Given the description of an element on the screen output the (x, y) to click on. 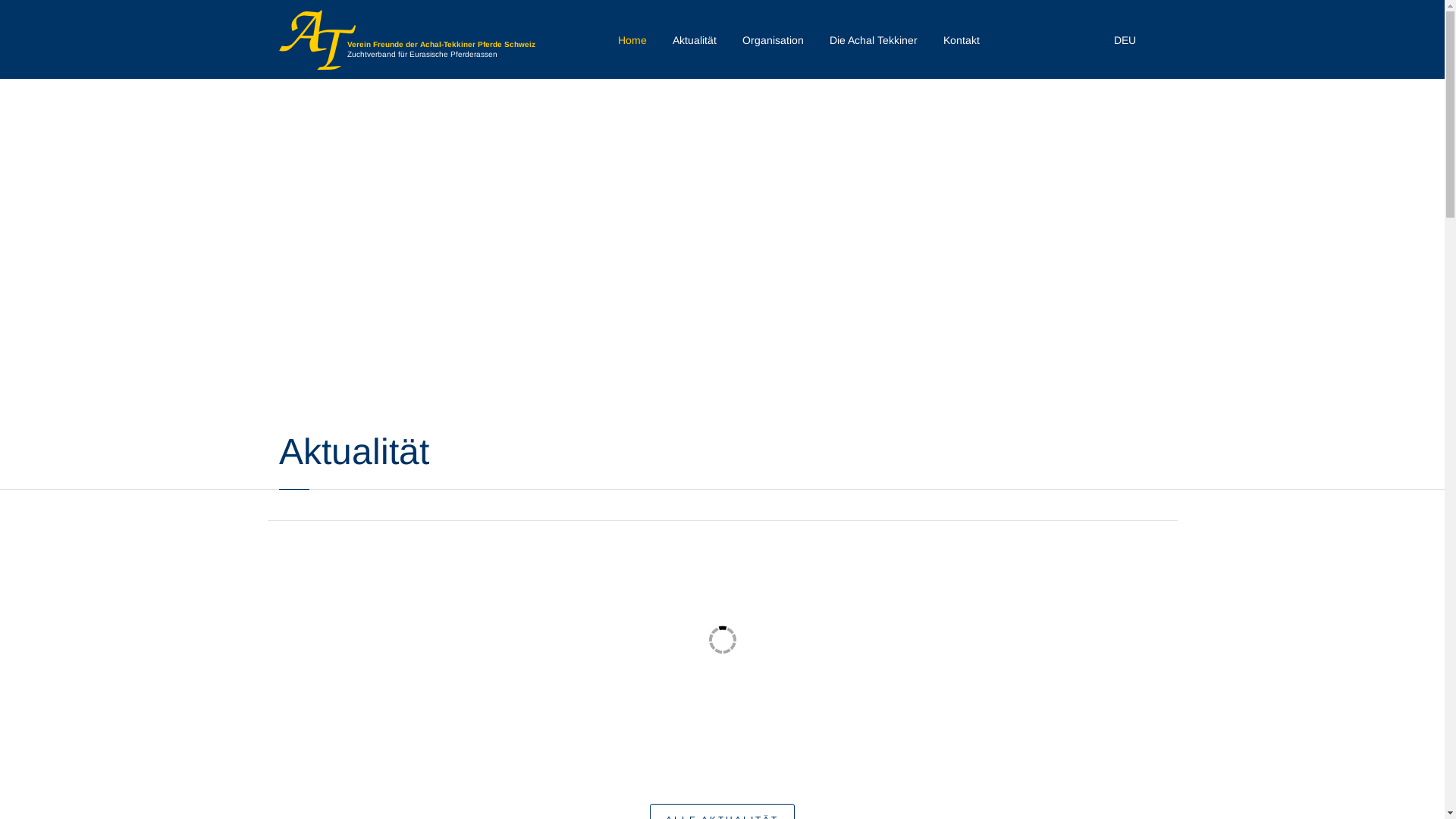
Kontakt Element type: text (961, 39)
Home Element type: text (631, 39)
Die Achal Tekkiner Element type: text (873, 39)
Organisation Element type: text (772, 39)
DEU Element type: text (1137, 39)
